Given the description of an element on the screen output the (x, y) to click on. 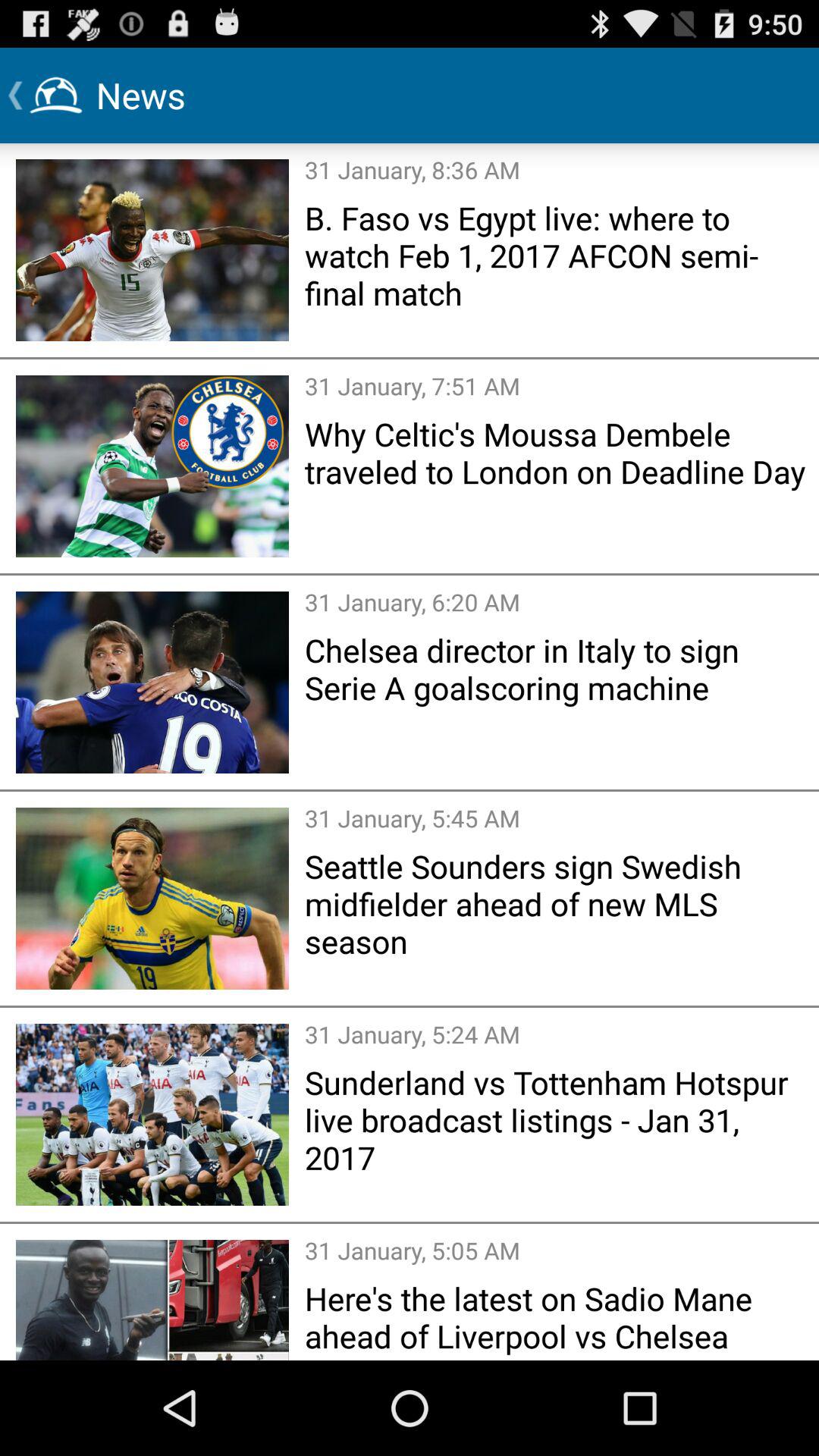
launch the icon below the 31 january 8 item (556, 255)
